Given the description of an element on the screen output the (x, y) to click on. 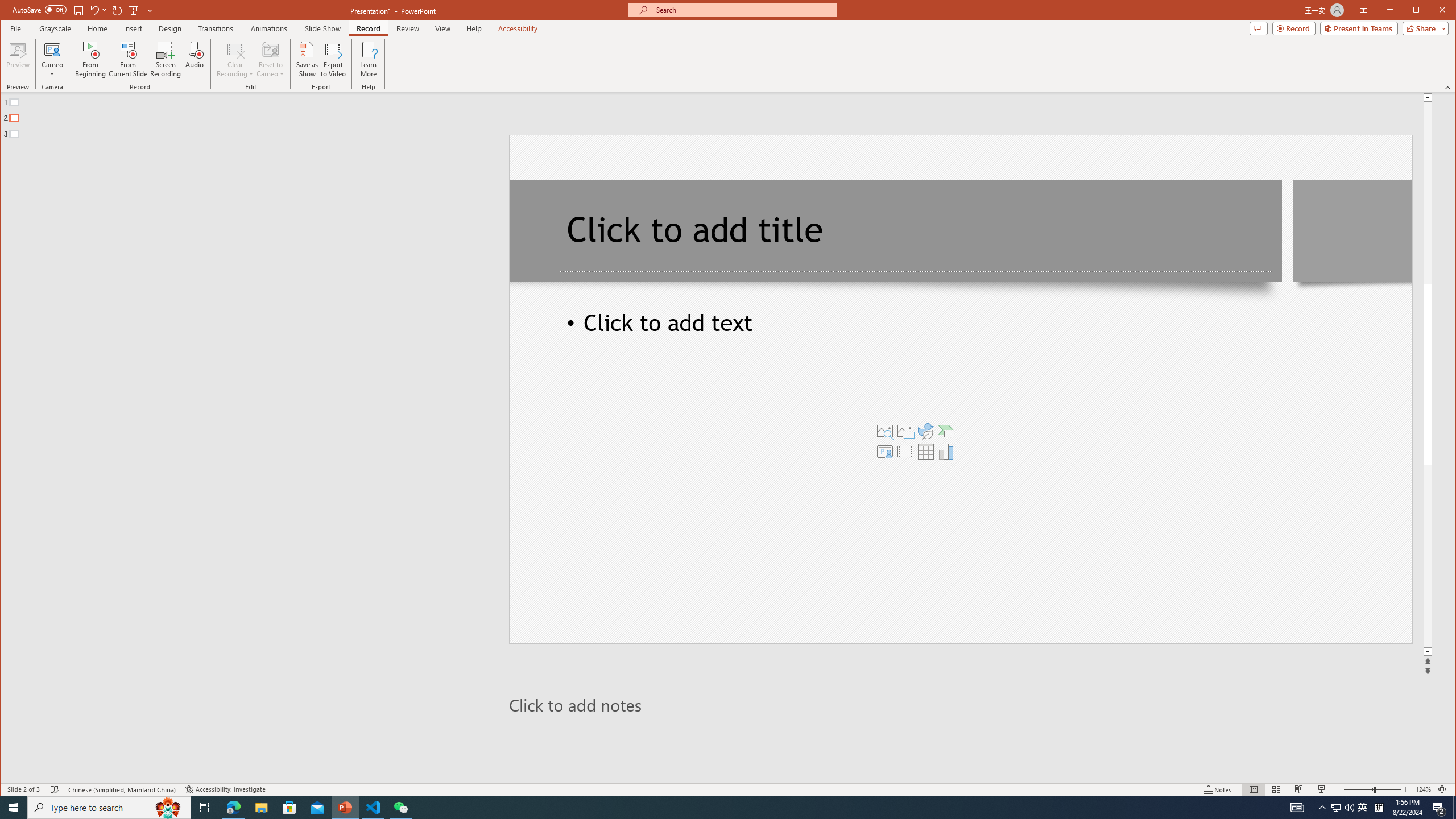
Slide Notes (965, 704)
Outline (252, 115)
Pictures (905, 430)
Running applications (707, 807)
